Given the description of an element on the screen output the (x, y) to click on. 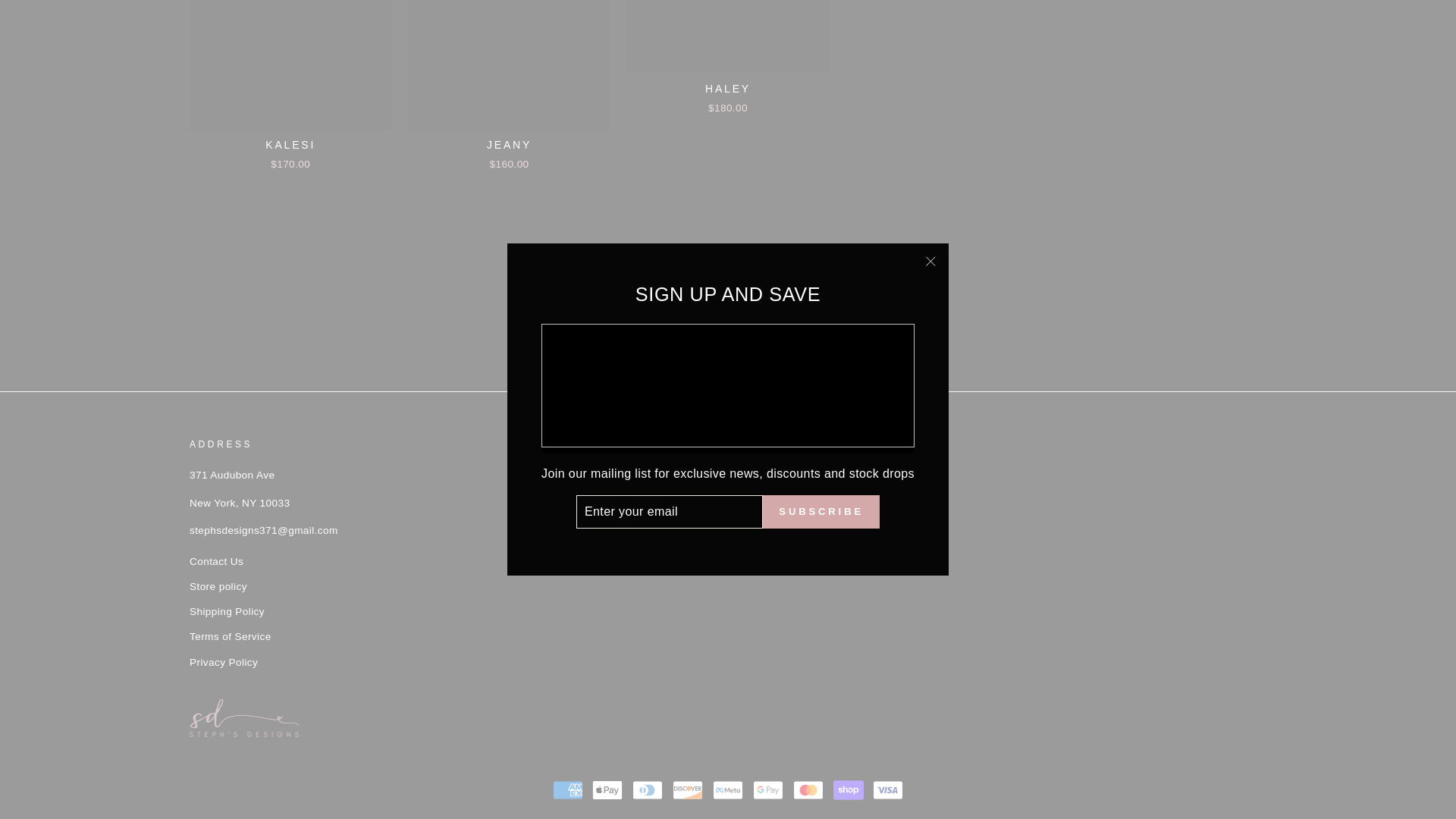
Visa (887, 789)
Meta Pay (727, 789)
Discover (687, 789)
American Express (568, 789)
Mastercard (808, 789)
Diners Club (646, 789)
Apple Pay (607, 789)
Shop Pay (847, 789)
Google Pay (767, 789)
